Given the description of an element on the screen output the (x, y) to click on. 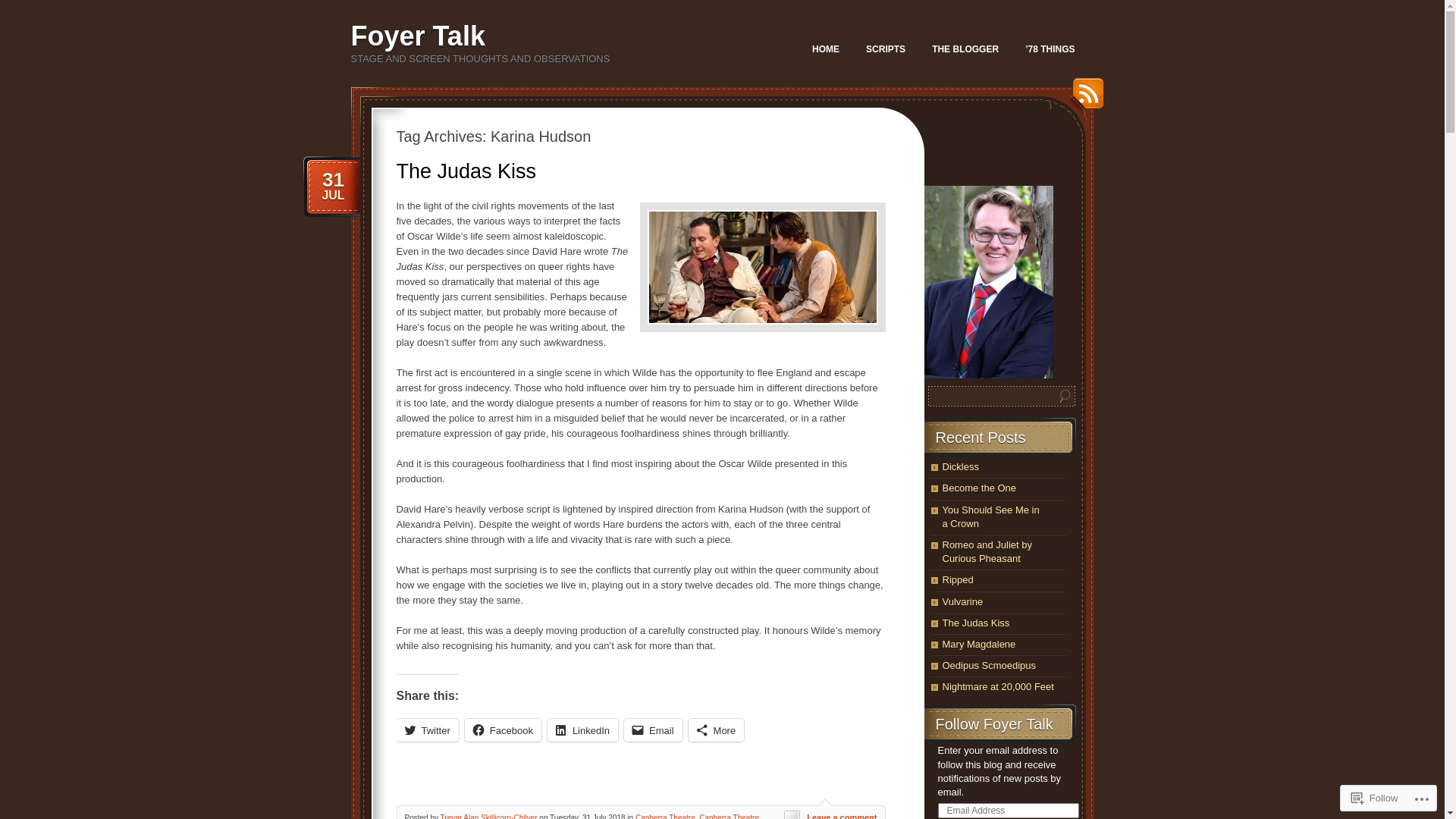
RSS Element type: text (1083, 98)
The Judas Kiss Element type: text (465, 171)
LinkedIn Element type: text (582, 729)
Trevar Alan Chilver Element type: hover (987, 281)
Follow Element type: text (1374, 797)
Ripped Element type: text (956, 579)
The Judas Kiss Element type: text (975, 622)
Facebook Element type: text (502, 729)
Mary Magdalene Element type: text (978, 643)
SCRIPTS Element type: text (885, 48)
More Element type: text (716, 729)
31
JUL Element type: text (332, 185)
Foyer Talk Element type: text (417, 35)
HOME Element type: text (825, 48)
You Should See Me in a Crown Element type: text (989, 516)
Nightmare at 20,000 Feet Element type: text (997, 686)
Like or Reblog Element type: hover (639, 780)
Become the One Element type: text (978, 487)
Oedipus Scmoedipus Element type: text (988, 665)
Vulvarine Element type: text (961, 601)
Dickless Element type: text (959, 466)
Search Element type: text (1064, 395)
THE BLOGGER Element type: text (965, 48)
Twitter Element type: text (426, 729)
Romeo and Juliet by Curious Pheasant Element type: text (986, 551)
Email Element type: text (653, 729)
